Given the description of an element on the screen output the (x, y) to click on. 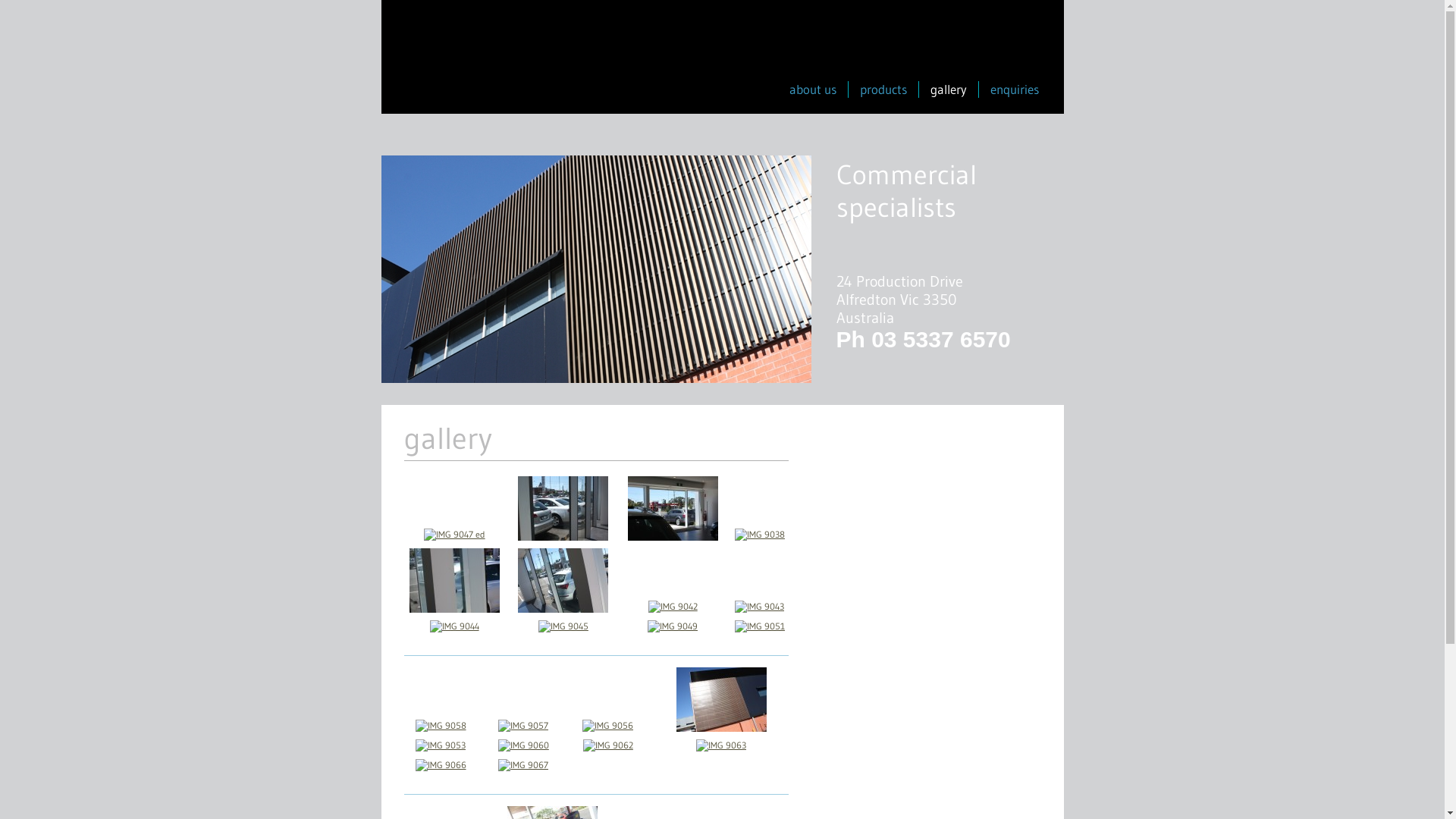
IMG 9063 Element type: hover (721, 745)
IMG 9049 Element type: hover (672, 626)
IMG 9044 Element type: hover (454, 626)
IMG 9060 Element type: hover (523, 745)
IMG 9043 Element type: hover (759, 606)
IMG 9039 Element type: hover (454, 606)
Infront Windows Element type: text (479, 62)
enquiries Element type: text (1014, 89)
IMG 9062 Element type: hover (608, 745)
IMG 9036 Element type: hover (562, 534)
IMG 9045 Element type: hover (563, 626)
IMG 9040 ed Element type: hover (562, 606)
IMG 9038 Element type: hover (759, 534)
IMG 9042 Element type: hover (672, 606)
IMG 9037 Element type: hover (672, 534)
IMG 9067 Element type: hover (523, 765)
IMG 9051 Element type: hover (759, 626)
IMG 9047 ed Element type: hover (454, 534)
gallery Element type: text (947, 89)
IMG 9056 Element type: hover (607, 725)
IMG 9066 Element type: hover (440, 765)
products Element type: text (882, 89)
IMG 9057 Element type: hover (523, 725)
about us Element type: text (811, 89)
IMG 9058 Element type: hover (440, 725)
IMG 9053 Element type: hover (440, 745)
IMG 9055 Element type: hover (721, 725)
